Given the description of an element on the screen output the (x, y) to click on. 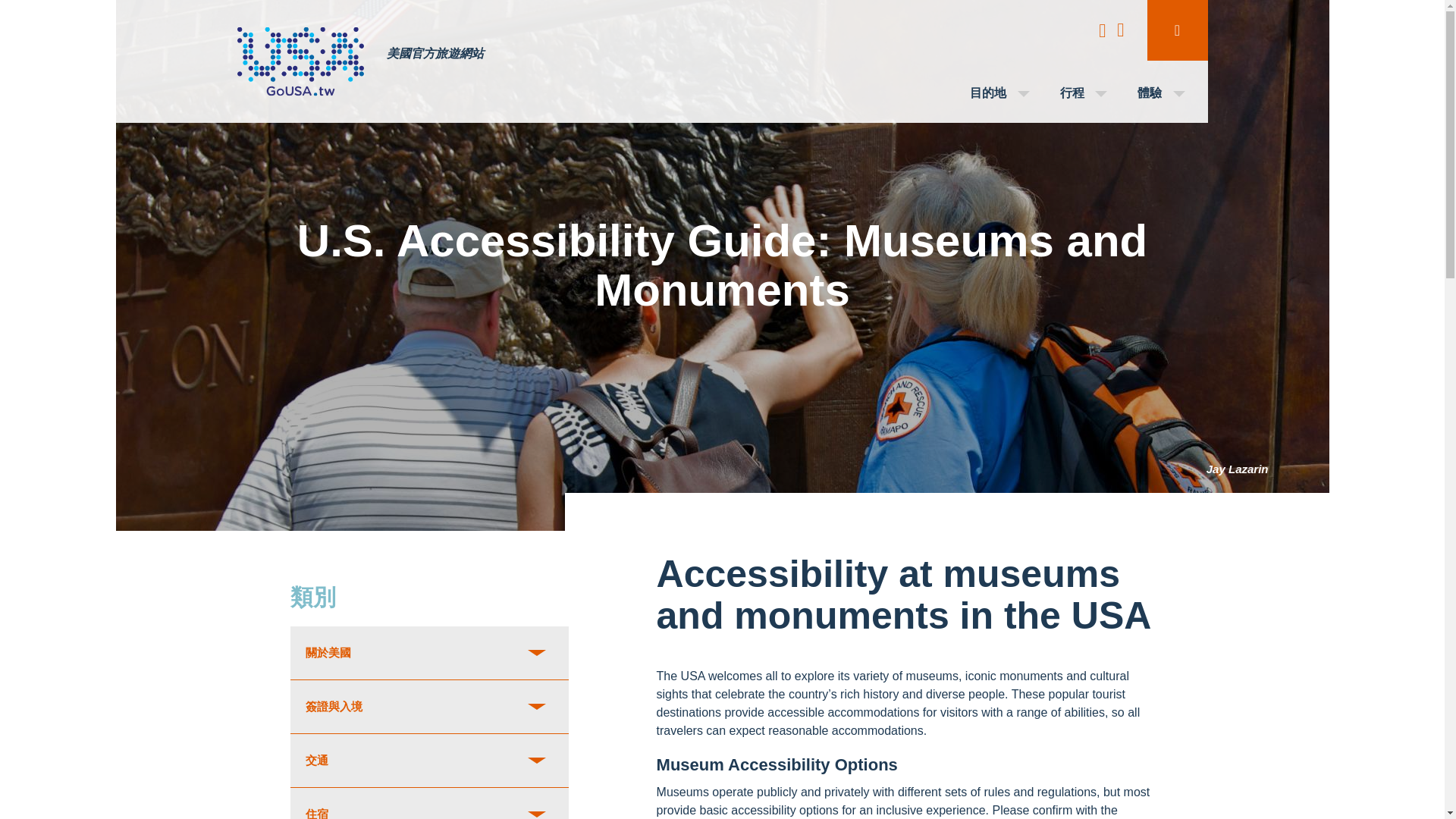
Submenu (1177, 30)
